Given the description of an element on the screen output the (x, y) to click on. 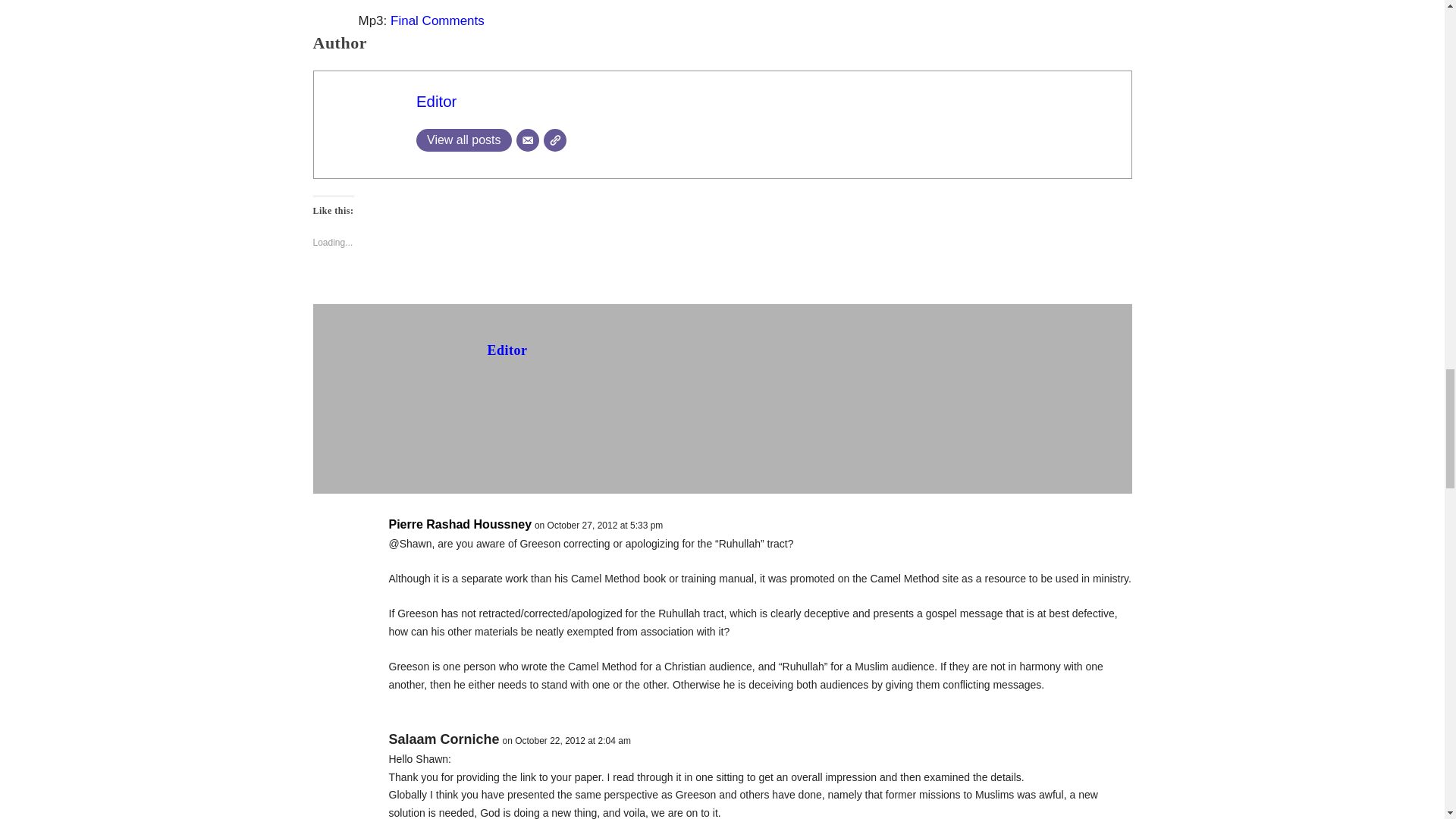
View all posts (464, 139)
Pierre Rashad Houssney (459, 524)
Editor (436, 101)
Editor (506, 350)
View all posts (464, 139)
Final Comments (437, 20)
Editor (436, 101)
